Given the description of an element on the screen output the (x, y) to click on. 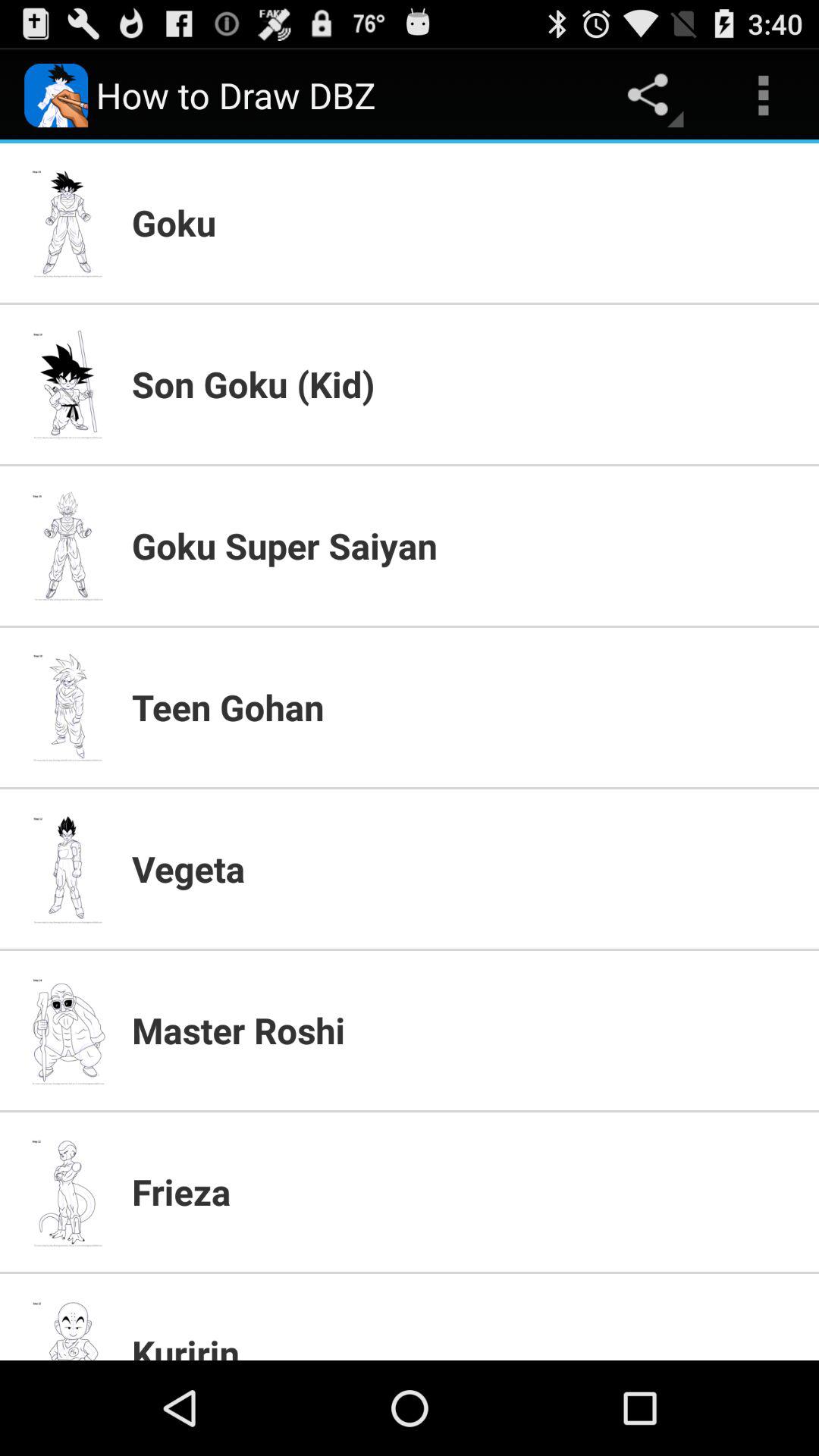
tap item below the goku icon (465, 384)
